Given the description of an element on the screen output the (x, y) to click on. 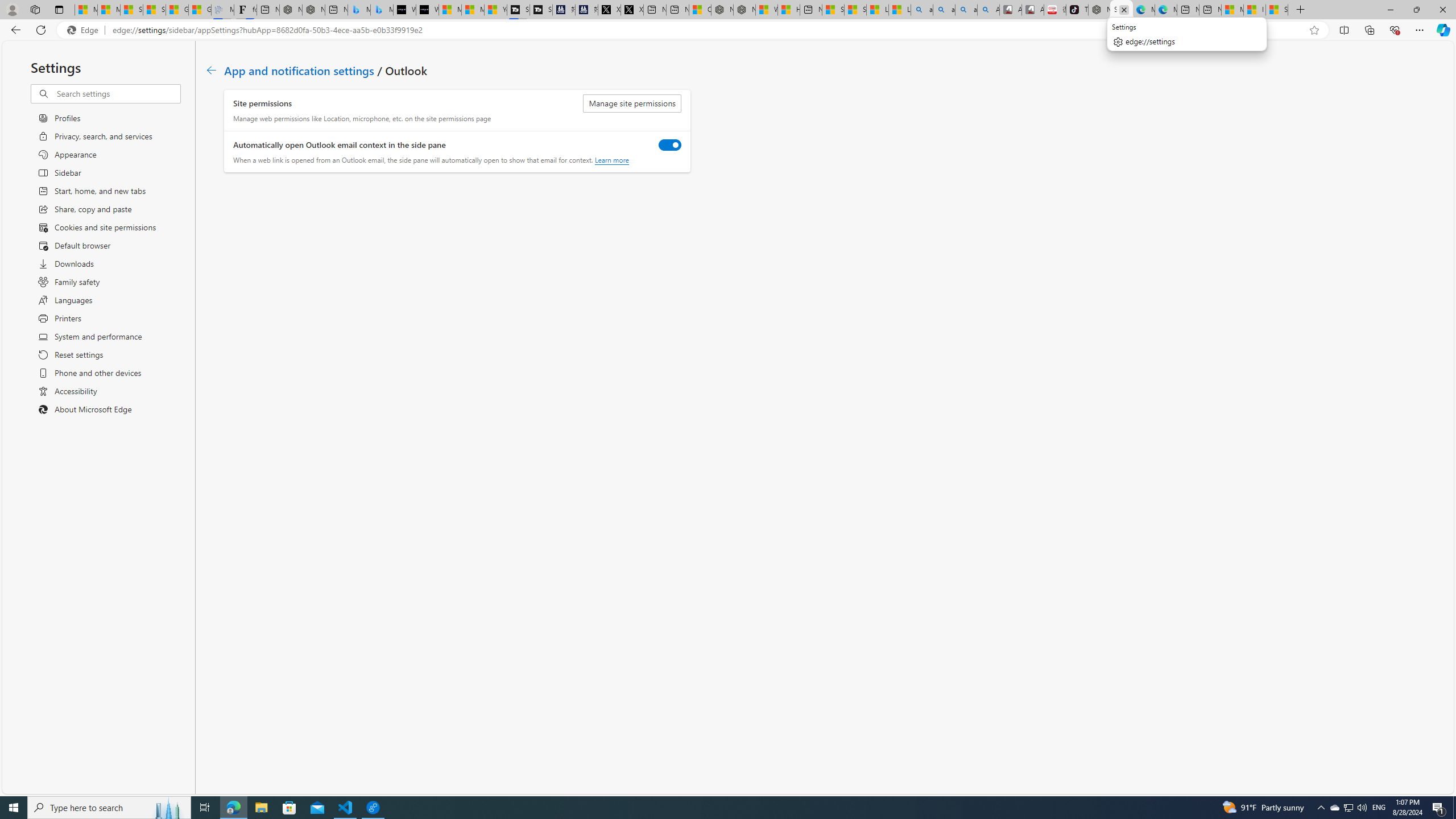
Search settings (117, 93)
